Given the description of an element on the screen output the (x, y) to click on. 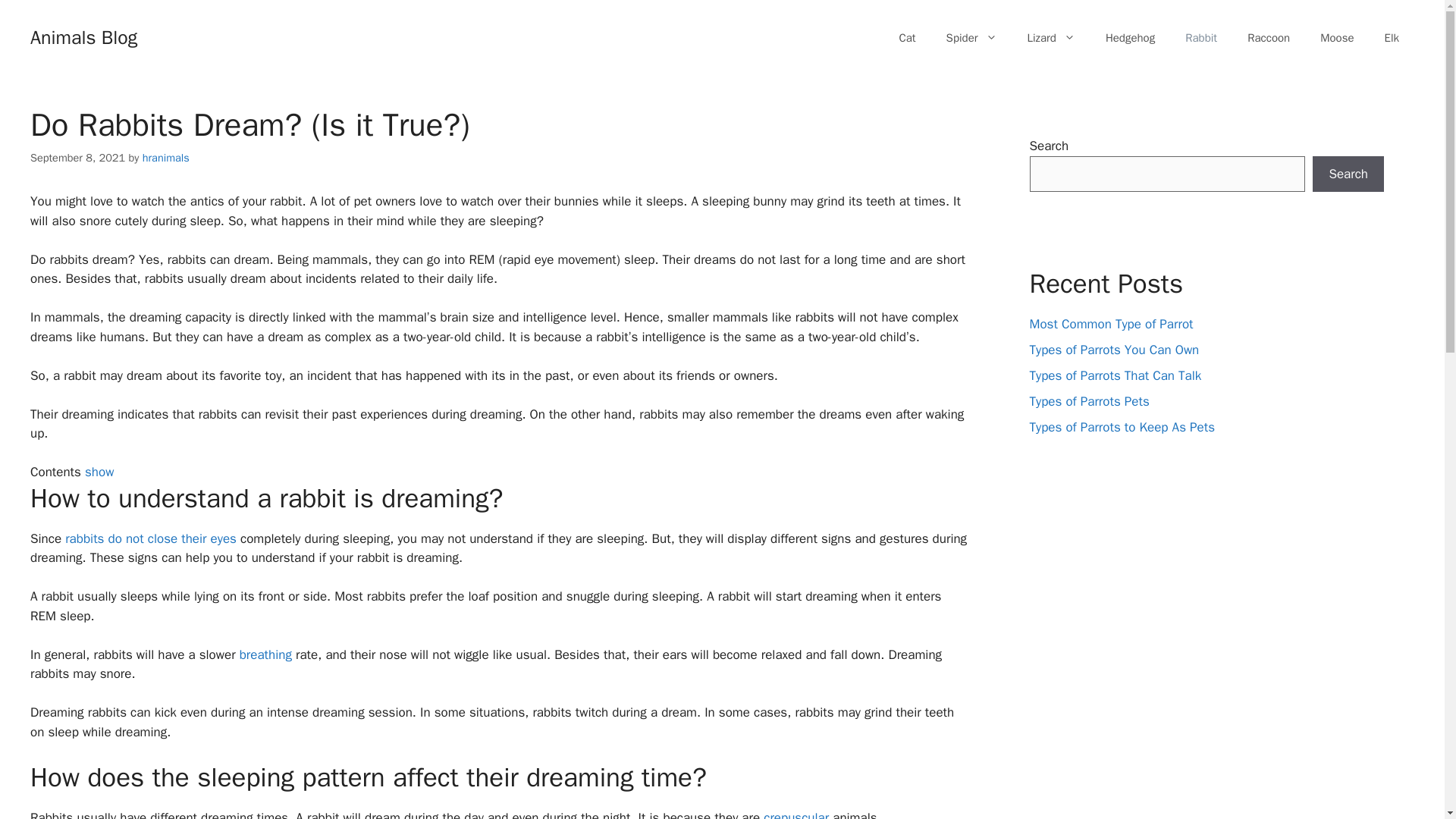
Moose (1336, 37)
Types of Parrots You Can Own (1114, 349)
Raccoon (1267, 37)
View all posts by hranimals (165, 157)
hranimals (165, 157)
Search (1348, 174)
Cat (906, 37)
Animals Blog (83, 37)
Most Common Type of Parrot (1111, 324)
breathing (266, 654)
